Given the description of an element on the screen output the (x, y) to click on. 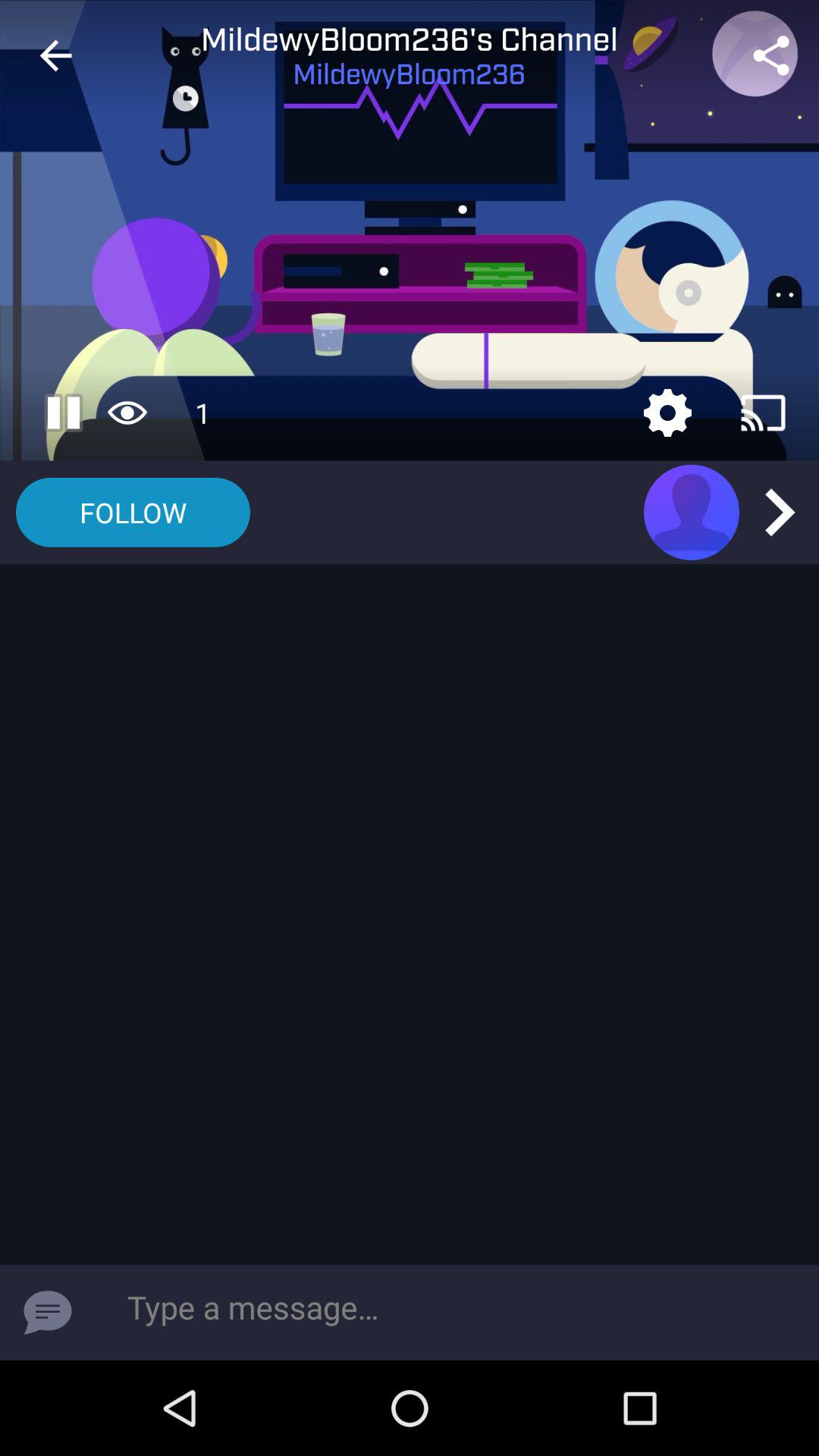
open tool menu (667, 412)
